Given the description of an element on the screen output the (x, y) to click on. 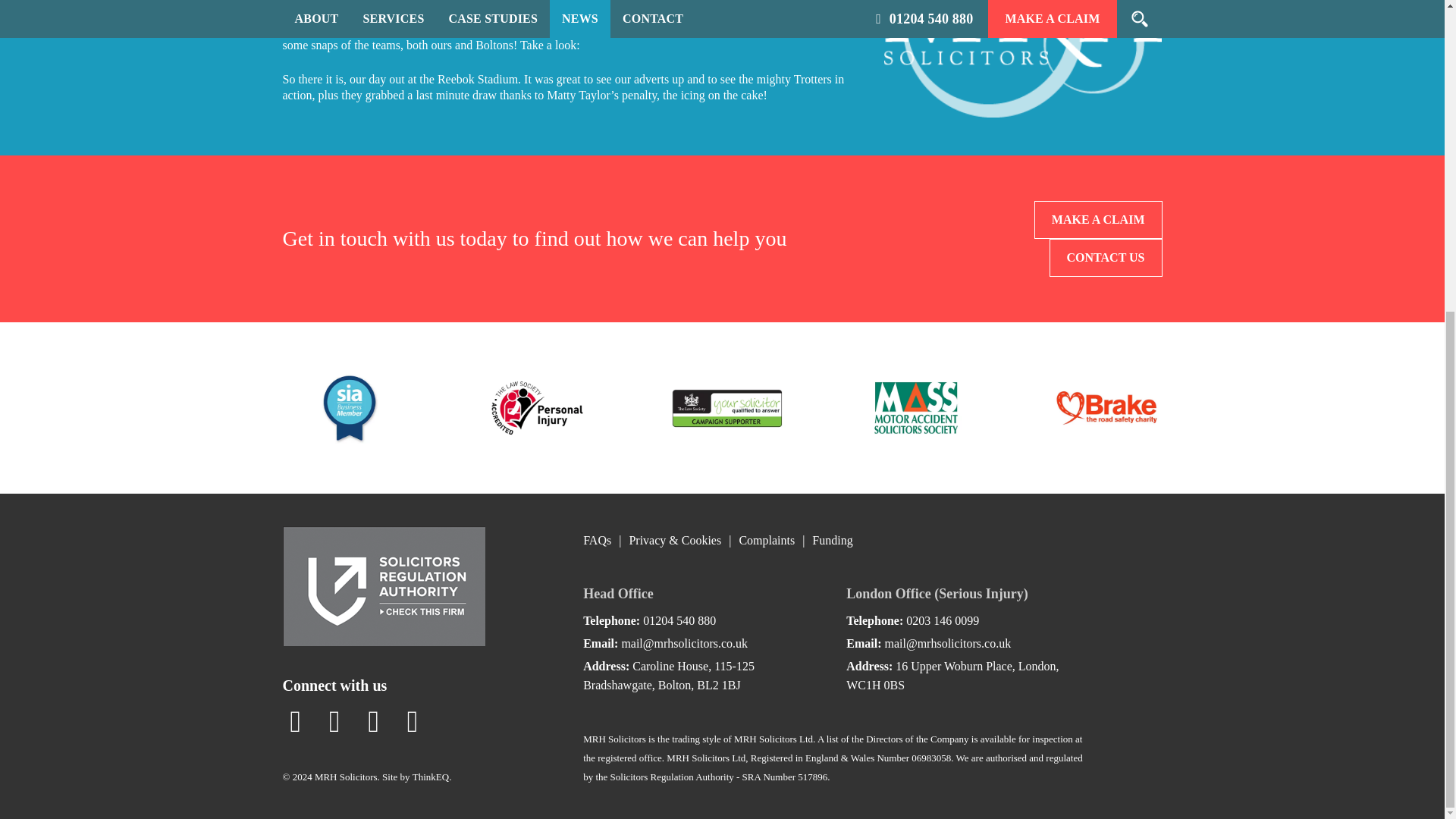
TLS-Personal-Injury-Logo (536, 407)
Brake-Logo (1105, 407)
TLS-Your-Solicitor-Logo (725, 407)
MASS-Logo (914, 407)
SIA-BM-Logo (347, 407)
